Given the description of an element on the screen output the (x, y) to click on. 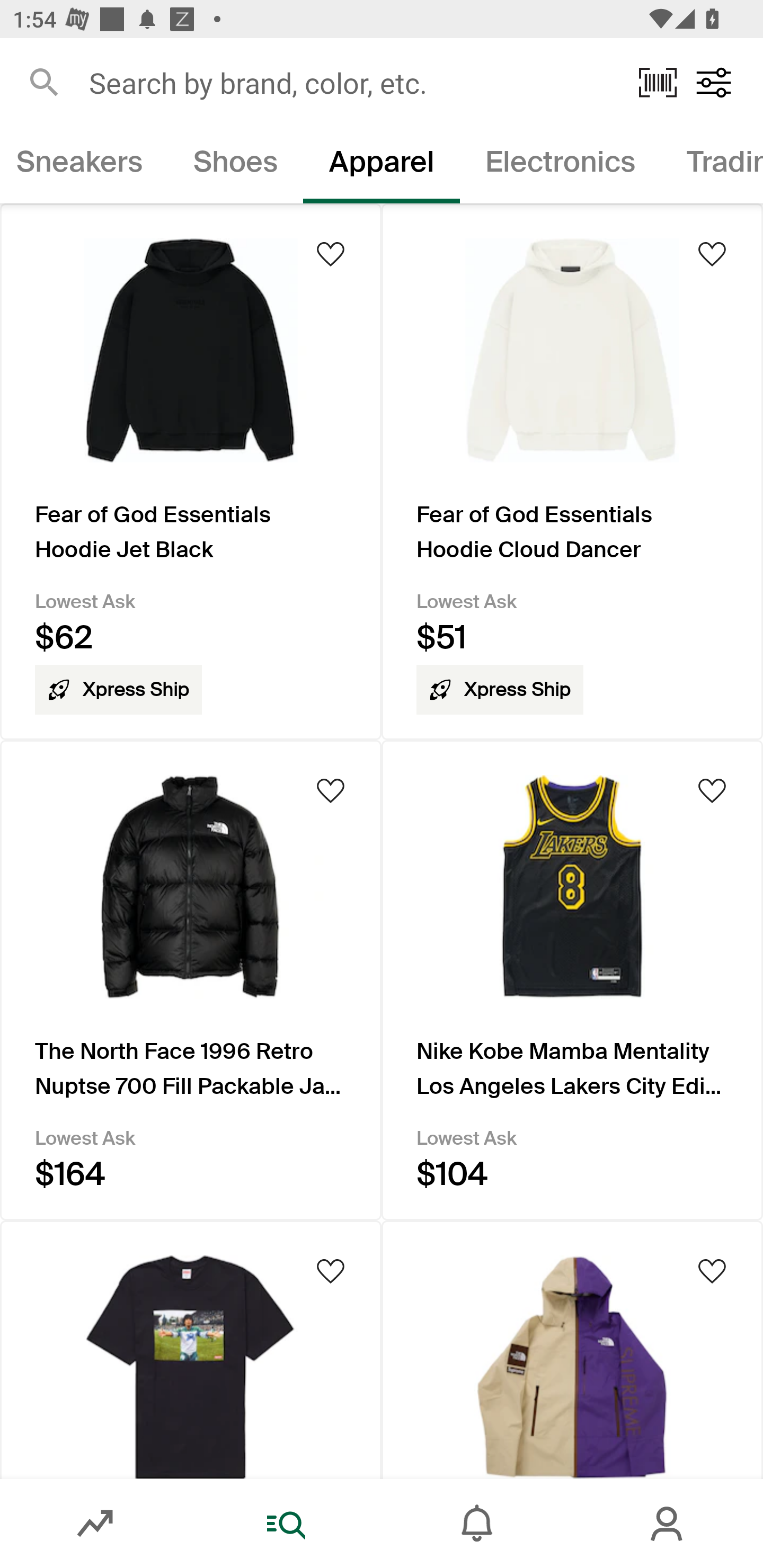
Search by brand, color, etc. (351, 82)
Sneakers (83, 165)
Shoes (234, 165)
Electronics (560, 165)
Trading Cards (711, 165)
Product Image (190, 1348)
Product Image (572, 1348)
Market (95, 1523)
Inbox (476, 1523)
Account (667, 1523)
